Given the description of an element on the screen output the (x, y) to click on. 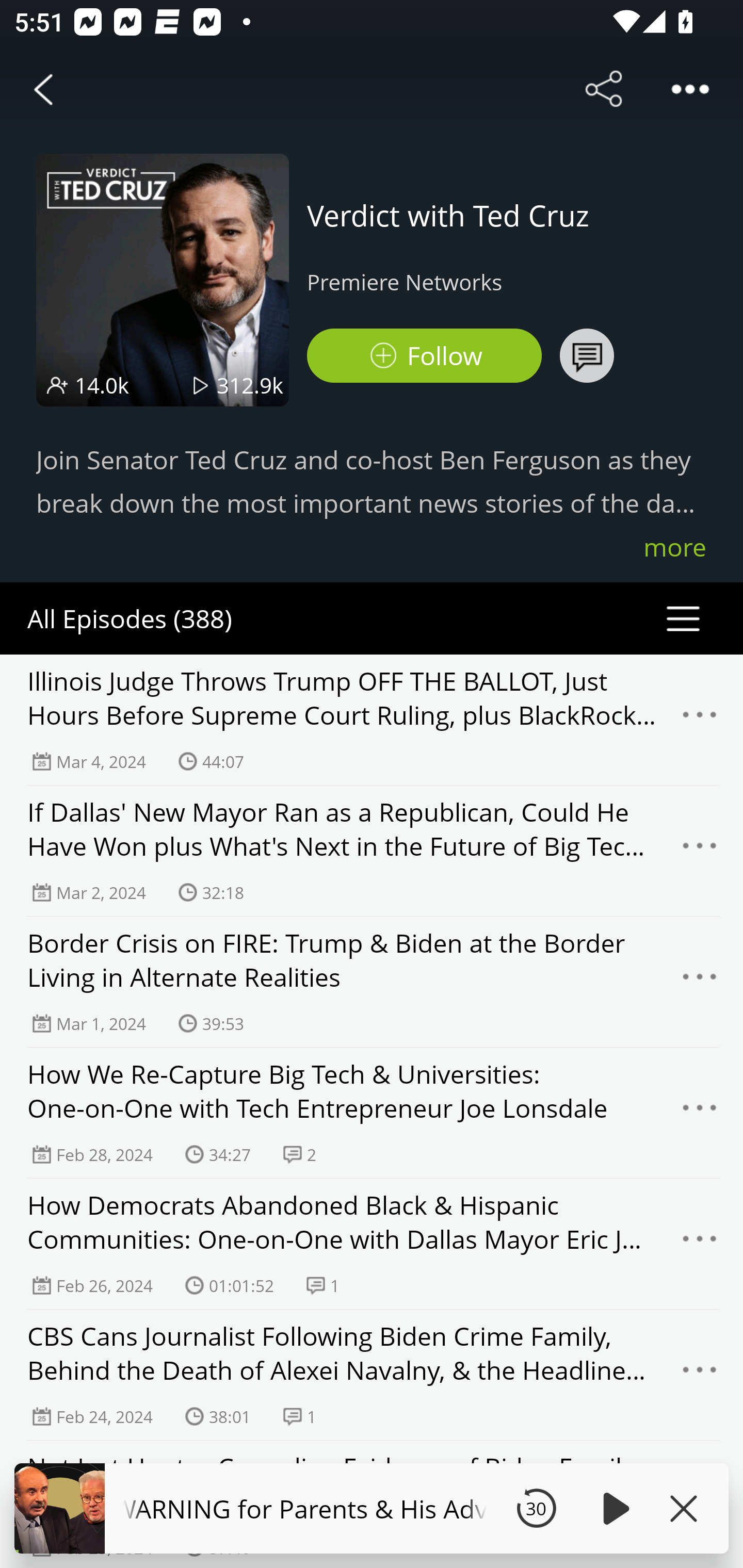
Back (43, 88)
Podbean Follow (423, 355)
14.0k (102, 384)
more (674, 546)
Menu (699, 720)
Menu (699, 850)
Menu (699, 982)
Menu (699, 1113)
Menu (699, 1244)
Menu (699, 1375)
Play (613, 1507)
30 Seek Backward (536, 1508)
